Given the description of an element on the screen output the (x, y) to click on. 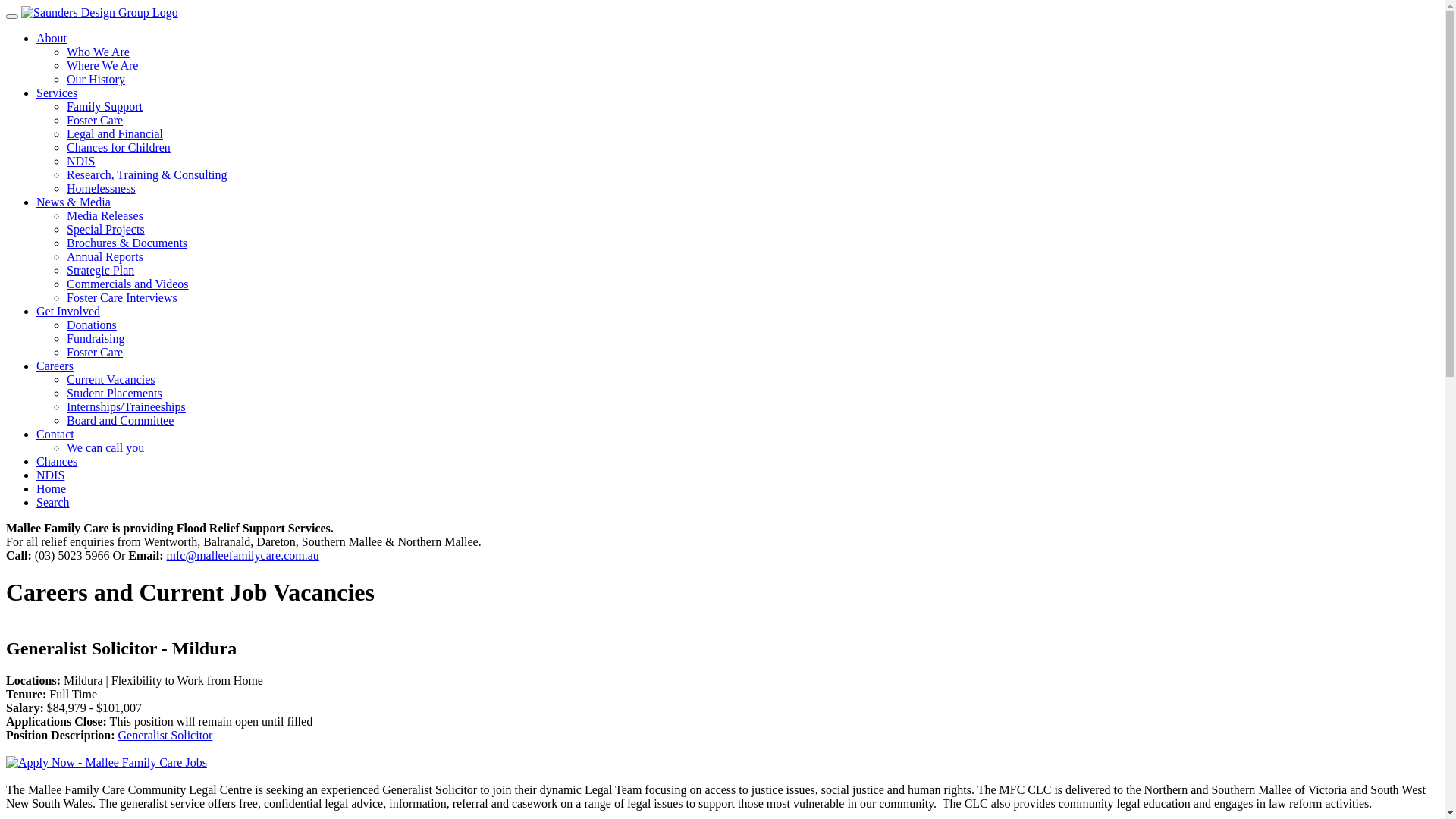
Donations Element type: text (91, 324)
Fundraising Element type: text (95, 338)
Careers Element type: text (54, 365)
Foster Care Element type: text (94, 119)
Media Releases Element type: text (104, 215)
Generalist Solicitor Element type: text (165, 734)
Homelessness Element type: text (100, 188)
Board and Committee Element type: text (119, 420)
Search Element type: text (52, 501)
Foster Care Interviews Element type: text (121, 297)
NDIS Element type: text (80, 160)
Current Vacancies Element type: text (110, 379)
Foster Care Element type: text (94, 351)
Services Element type: text (56, 92)
Chances for Children Element type: text (118, 147)
About Element type: text (51, 37)
Get Involved Element type: text (68, 310)
Commercials and Videos Element type: text (127, 283)
NDIS Element type: text (50, 474)
Home Element type: text (50, 488)
Internships/Traineeships Element type: text (125, 406)
Student Placements Element type: text (114, 392)
Annual Reports Element type: text (104, 256)
News & Media Element type: text (73, 201)
Contact Element type: text (55, 433)
Strategic Plan Element type: text (100, 269)
Chances Element type: text (56, 461)
Who We Are Element type: text (97, 51)
Brochures & Documents Element type: text (126, 242)
We can call you Element type: text (105, 447)
mfc@malleefamilycare.com.au Element type: text (242, 555)
Where We Are Element type: text (102, 65)
Legal and Financial Element type: text (114, 133)
Special Projects Element type: text (105, 228)
Our History Element type: text (95, 78)
Family Support Element type: text (104, 106)
Research, Training & Consulting Element type: text (146, 174)
